Given the description of an element on the screen output the (x, y) to click on. 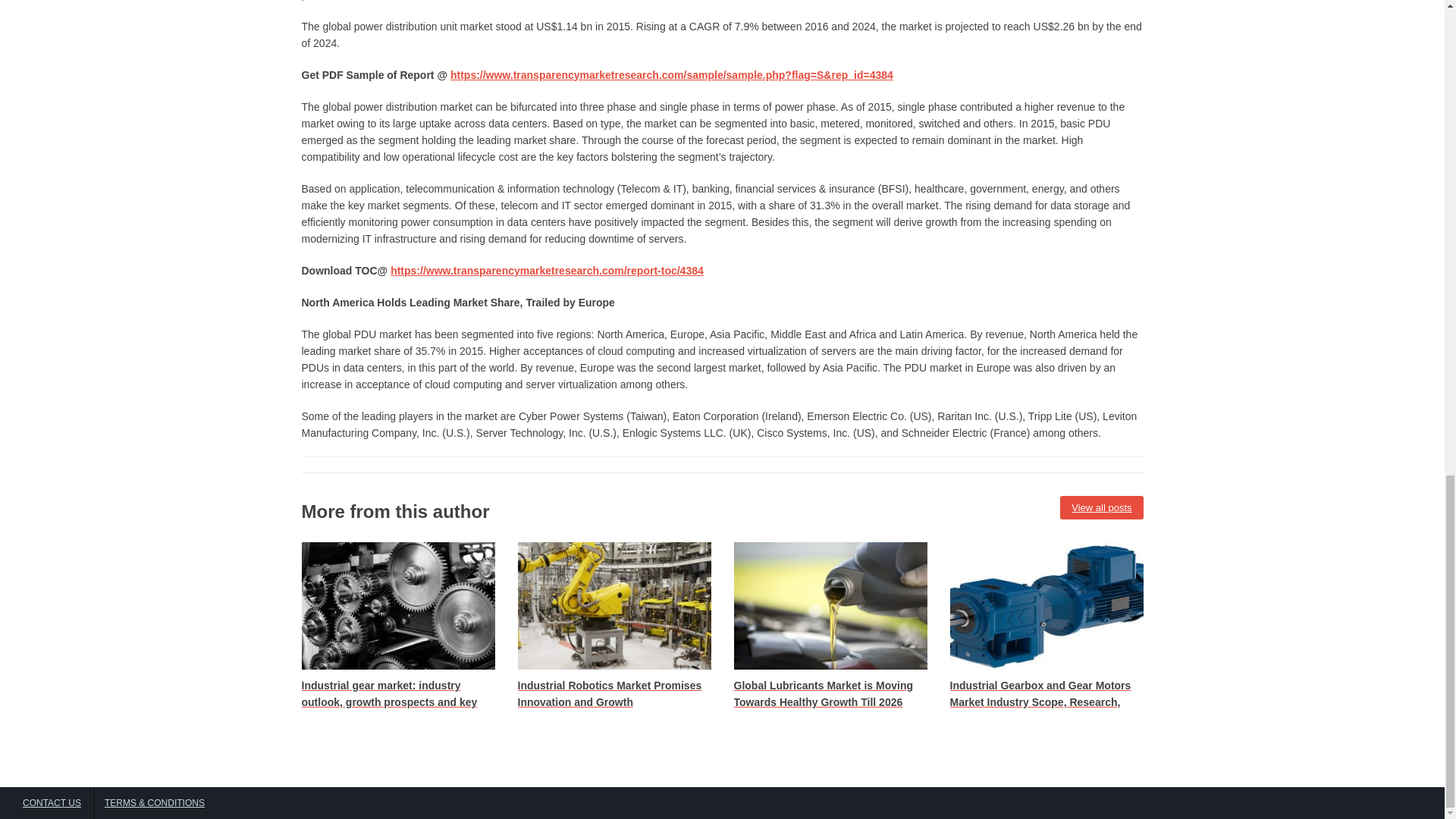
Industrial Robotics Market Promises Innovation and Growth (613, 626)
View all posts (1100, 508)
